Given the description of an element on the screen output the (x, y) to click on. 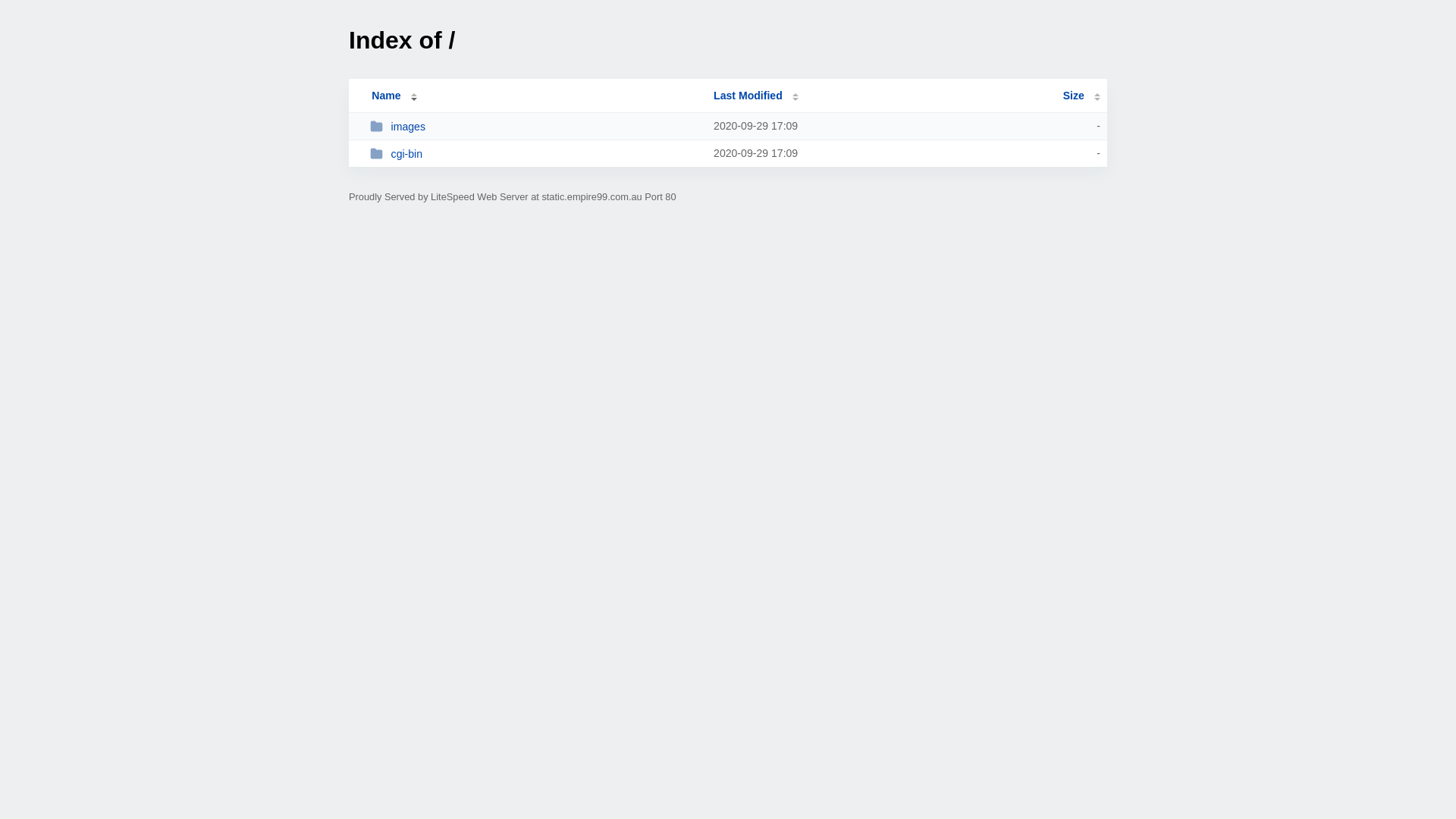
Name Element type: text (385, 95)
Last Modified Element type: text (755, 95)
images Element type: text (534, 125)
cgi-bin Element type: text (534, 153)
Size Element type: text (1081, 95)
